Given the description of an element on the screen output the (x, y) to click on. 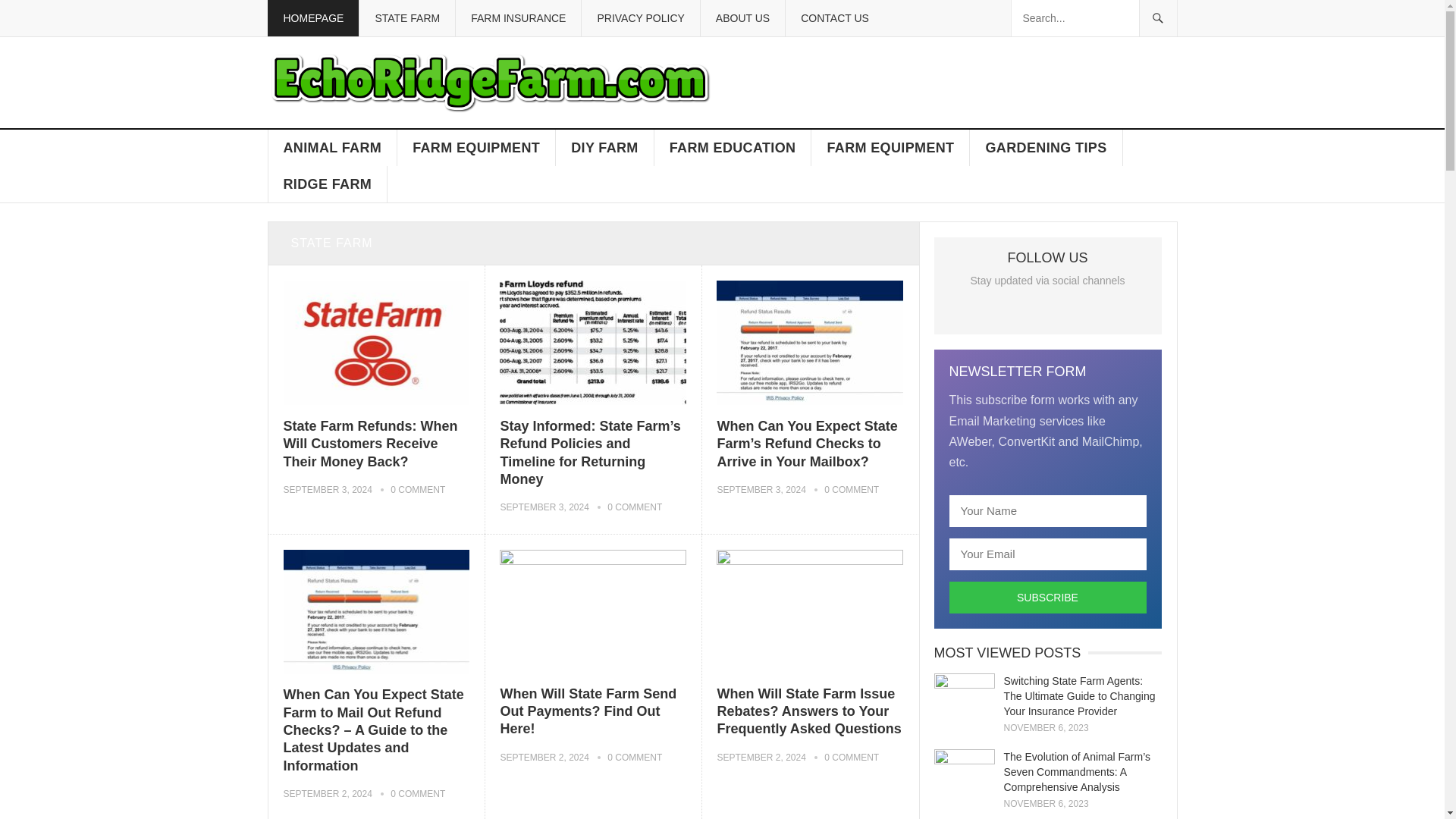
FARM EQUIPMENT (476, 147)
RIDGE FARM (327, 184)
HOMEPAGE (312, 18)
Subscribe (1048, 597)
DIY FARM (604, 147)
PRIVACY POLICY (639, 18)
STATE FARM (406, 18)
STATE FARM (337, 242)
0 COMMENT (417, 489)
